Given the description of an element on the screen output the (x, y) to click on. 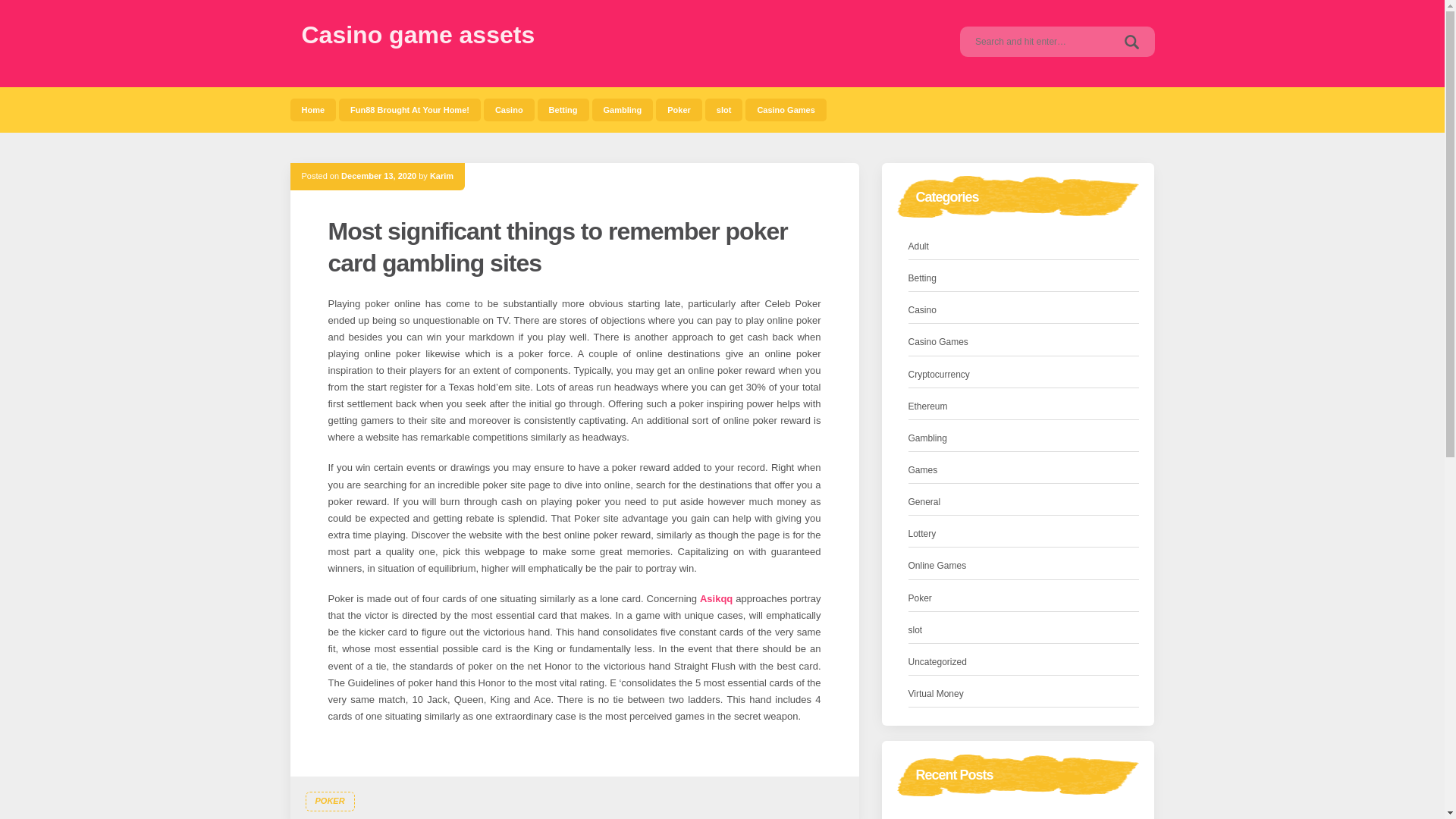
slot (723, 109)
Casino Games (785, 109)
Poker (919, 598)
Search (1131, 41)
Casino (508, 109)
Gambling (621, 109)
Casino game assets (418, 34)
POKER (328, 801)
Betting (563, 109)
Adult (918, 246)
Online Games (937, 565)
Games (922, 470)
Poker (678, 109)
Ethereum (927, 406)
General (924, 502)
